Given the description of an element on the screen output the (x, y) to click on. 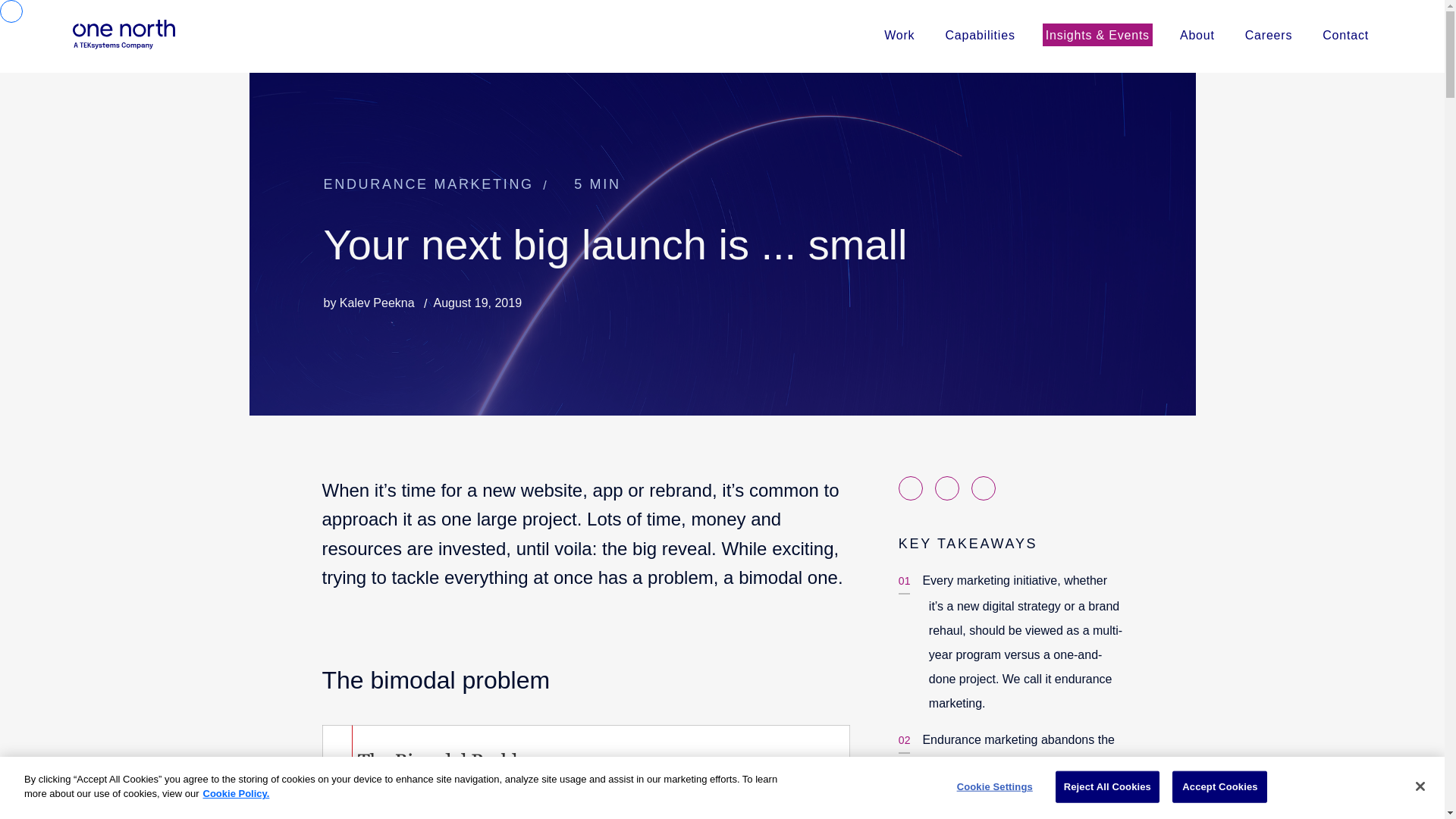
Careers (1268, 33)
About (1196, 33)
Work (898, 33)
Skip to content (721, 16)
Capabilities (979, 33)
Contact (1345, 33)
